Given the description of an element on the screen output the (x, y) to click on. 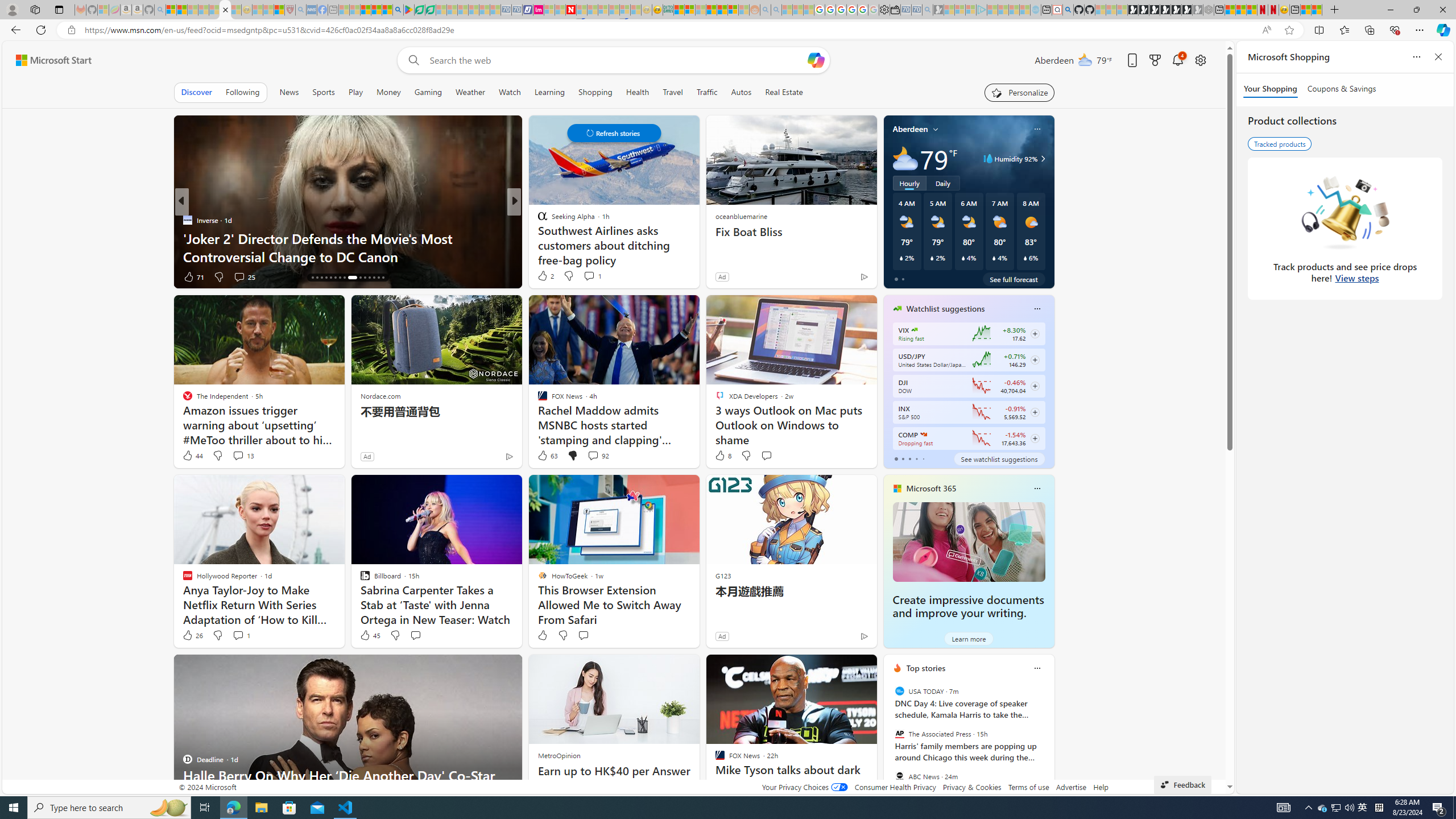
NASDAQ (923, 434)
Local - MSN (279, 9)
Money (387, 92)
New tab (1294, 9)
Cheap Hotels - Save70.com - Sleeping (516, 9)
20 Like (192, 276)
Workspaces (34, 9)
Class: control (613, 132)
View comments 7 Comment (596, 276)
